Given the description of an element on the screen output the (x, y) to click on. 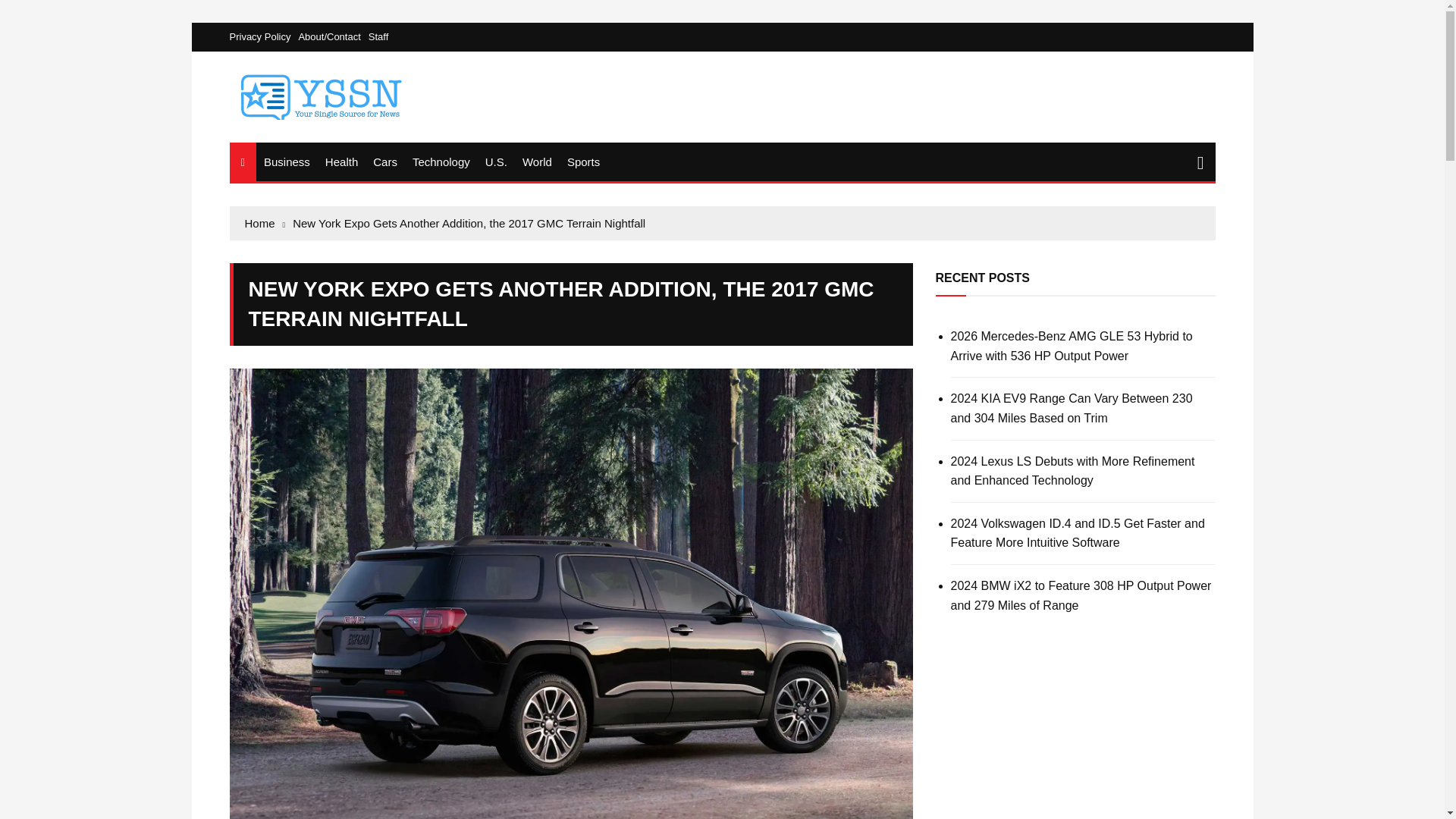
Home (264, 223)
World (537, 161)
Health (341, 161)
Privacy Policy (263, 36)
U.S. (496, 161)
Staff (378, 36)
Technology (440, 161)
Business (286, 161)
Sports (583, 161)
